Given the description of an element on the screen output the (x, y) to click on. 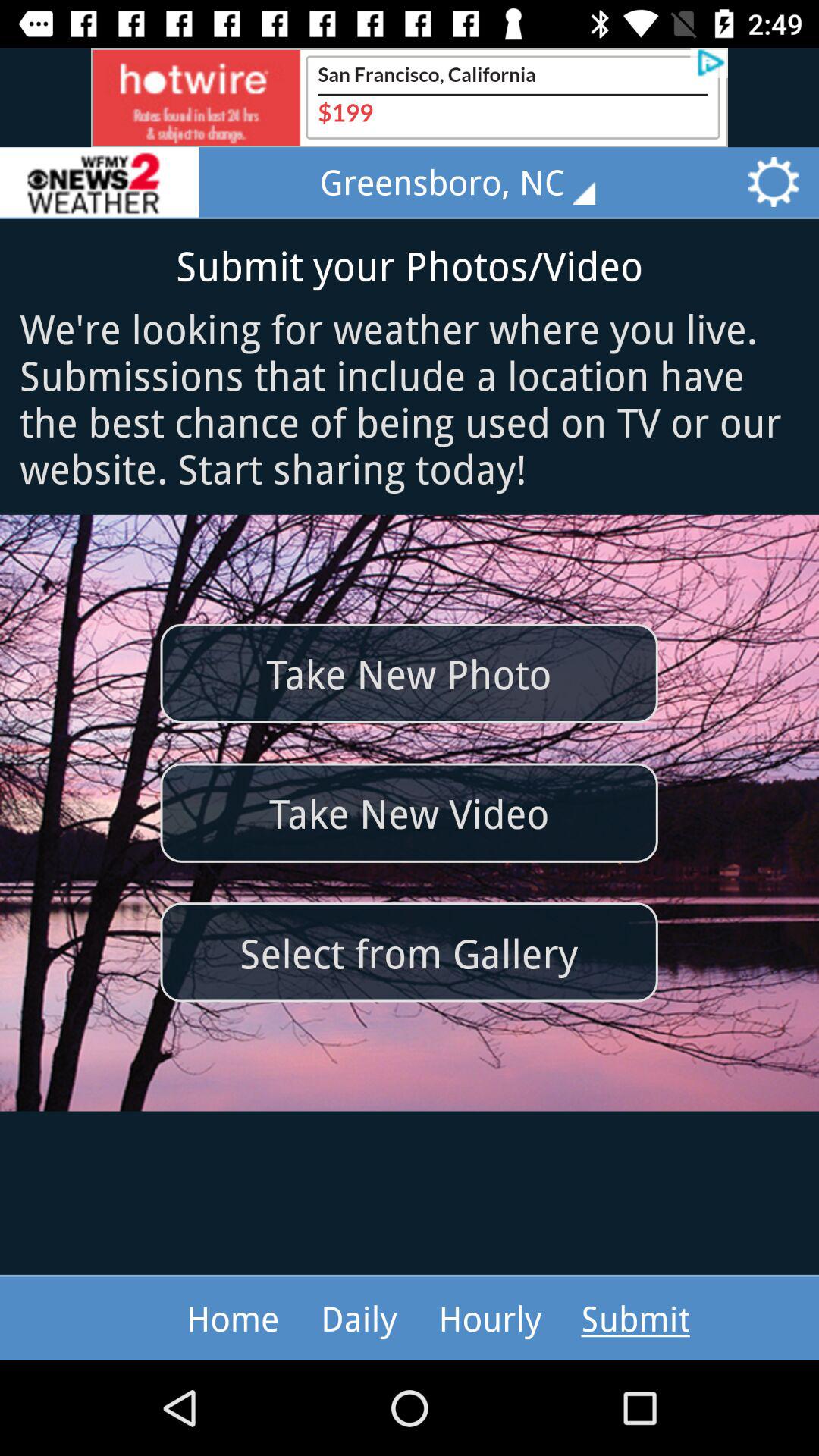
go to weather report (99, 182)
